Given the description of an element on the screen output the (x, y) to click on. 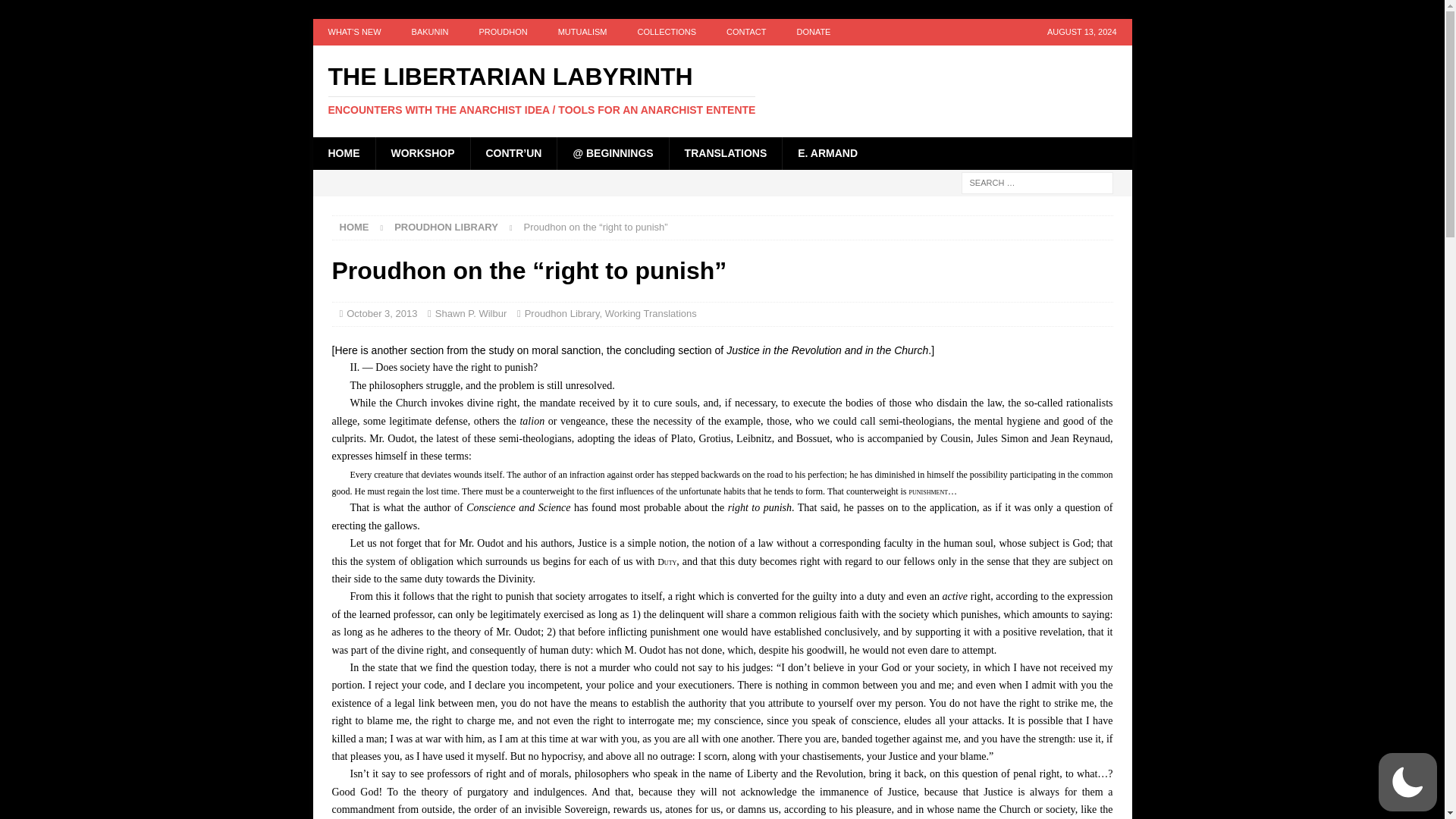
BAKUNIN (430, 31)
PROUDHON LIBRARY (445, 226)
Proudhon Library (445, 226)
TRANSLATIONS (725, 152)
Proudhon Library (561, 313)
Shawn P. Wilbur (470, 313)
CONTACT (745, 31)
The Libertarian Labyrinth (721, 90)
E. ARMAND (826, 152)
PROUDHON (502, 31)
